Given the description of an element on the screen output the (x, y) to click on. 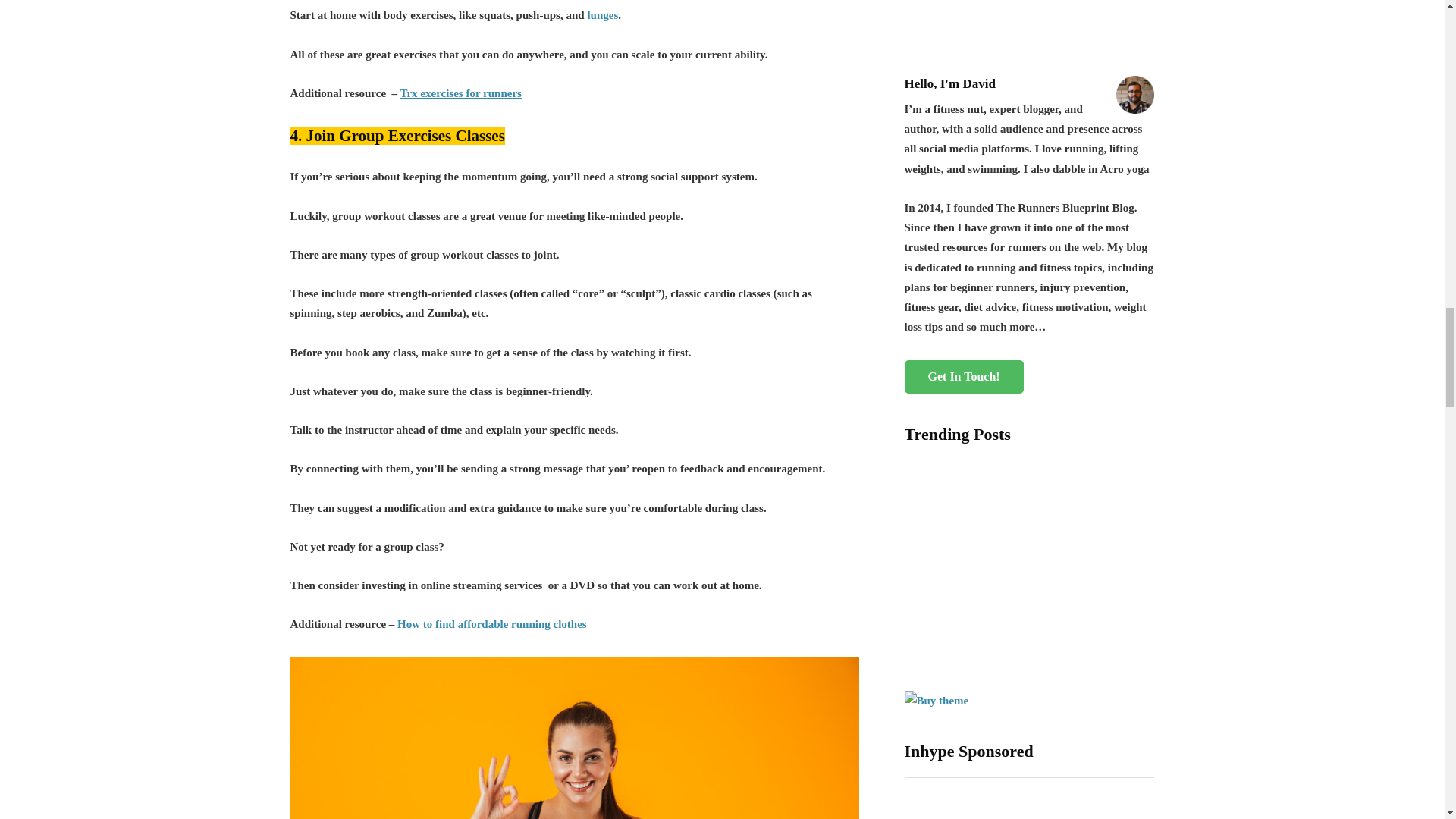
Trx exercises for runners (460, 92)
How to find affordable running clothes (491, 623)
lunges (601, 15)
